Given the description of an element on the screen output the (x, y) to click on. 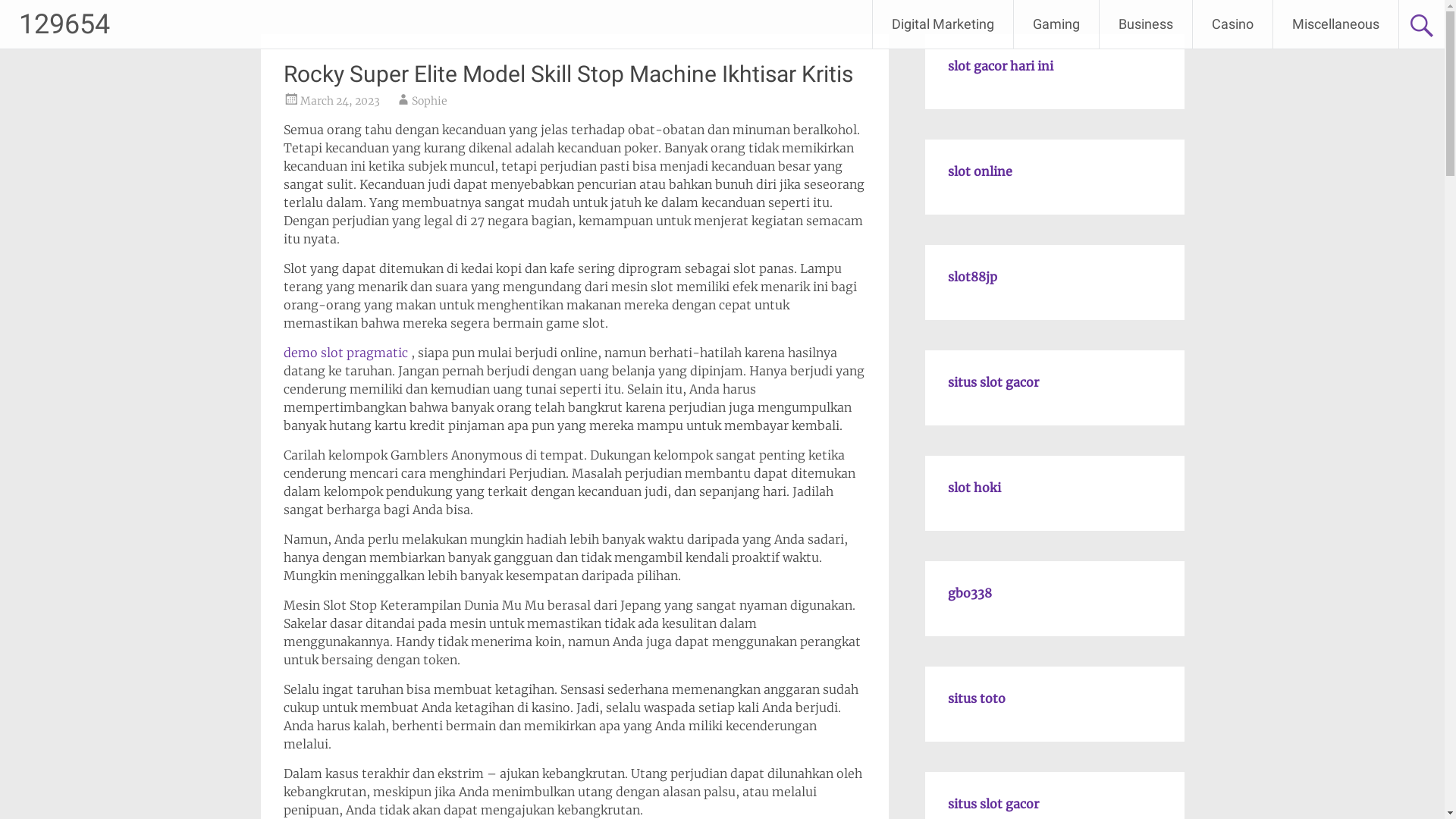
Gaming Element type: text (1055, 24)
situs slot gacor Element type: text (992, 803)
Business Element type: text (1145, 24)
March 24, 2023 Element type: text (339, 100)
slot gacor hari ini Element type: text (1000, 65)
situs slot gacor Element type: text (992, 381)
situs toto Element type: text (976, 698)
slot hoki Element type: text (974, 487)
Sophie Element type: text (428, 100)
129654 Element type: text (63, 24)
demo slot pragmatic Element type: text (345, 352)
slot online Element type: text (979, 170)
Casino Element type: text (1232, 24)
slot88jp Element type: text (972, 276)
Miscellaneous Element type: text (1335, 24)
Digital Marketing Element type: text (942, 24)
gbo338 Element type: text (969, 592)
